Given the description of an element on the screen output the (x, y) to click on. 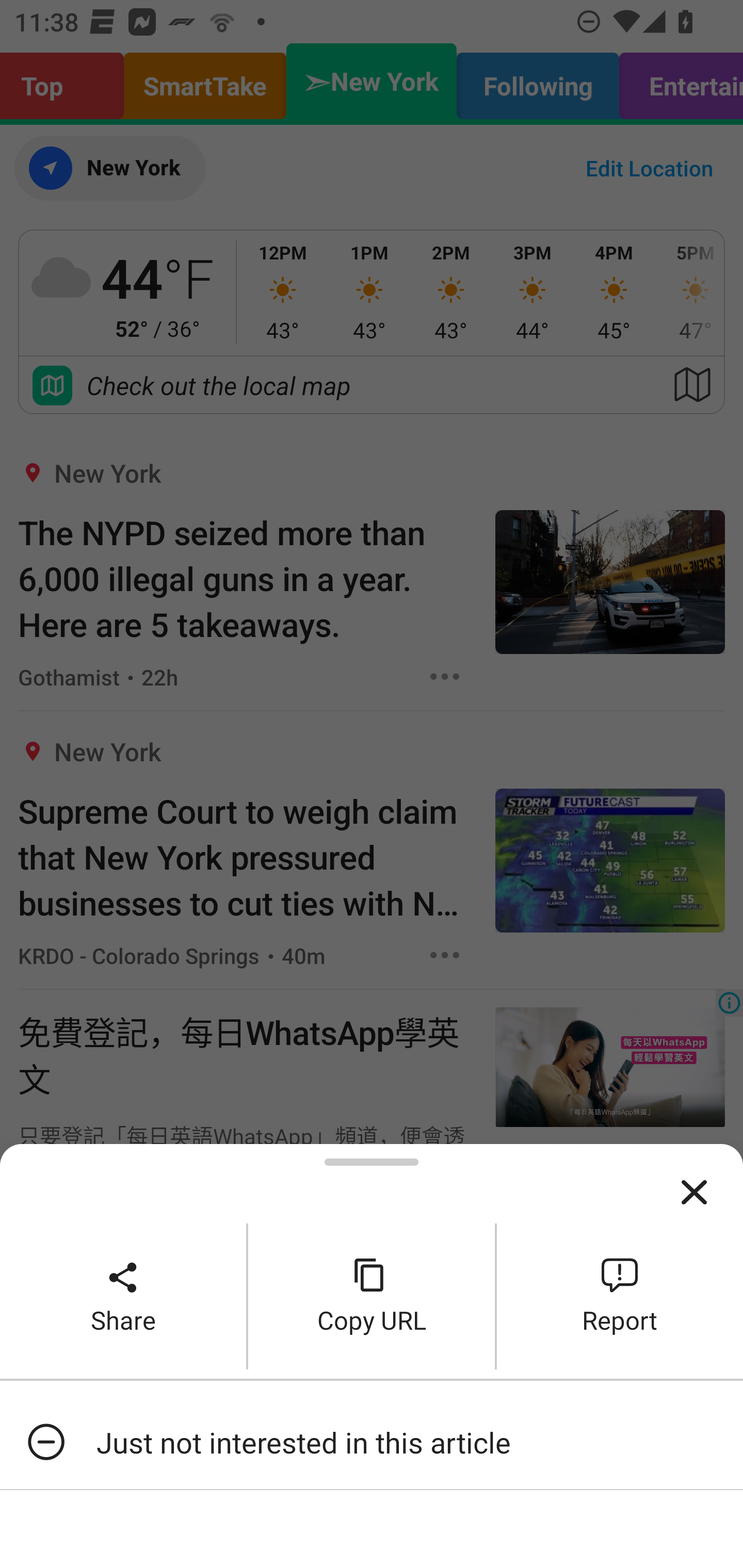
Close (694, 1192)
Share (122, 1295)
Copy URL (371, 1295)
Report (620, 1295)
Just not interested in this article (371, 1442)
